Given the description of an element on the screen output the (x, y) to click on. 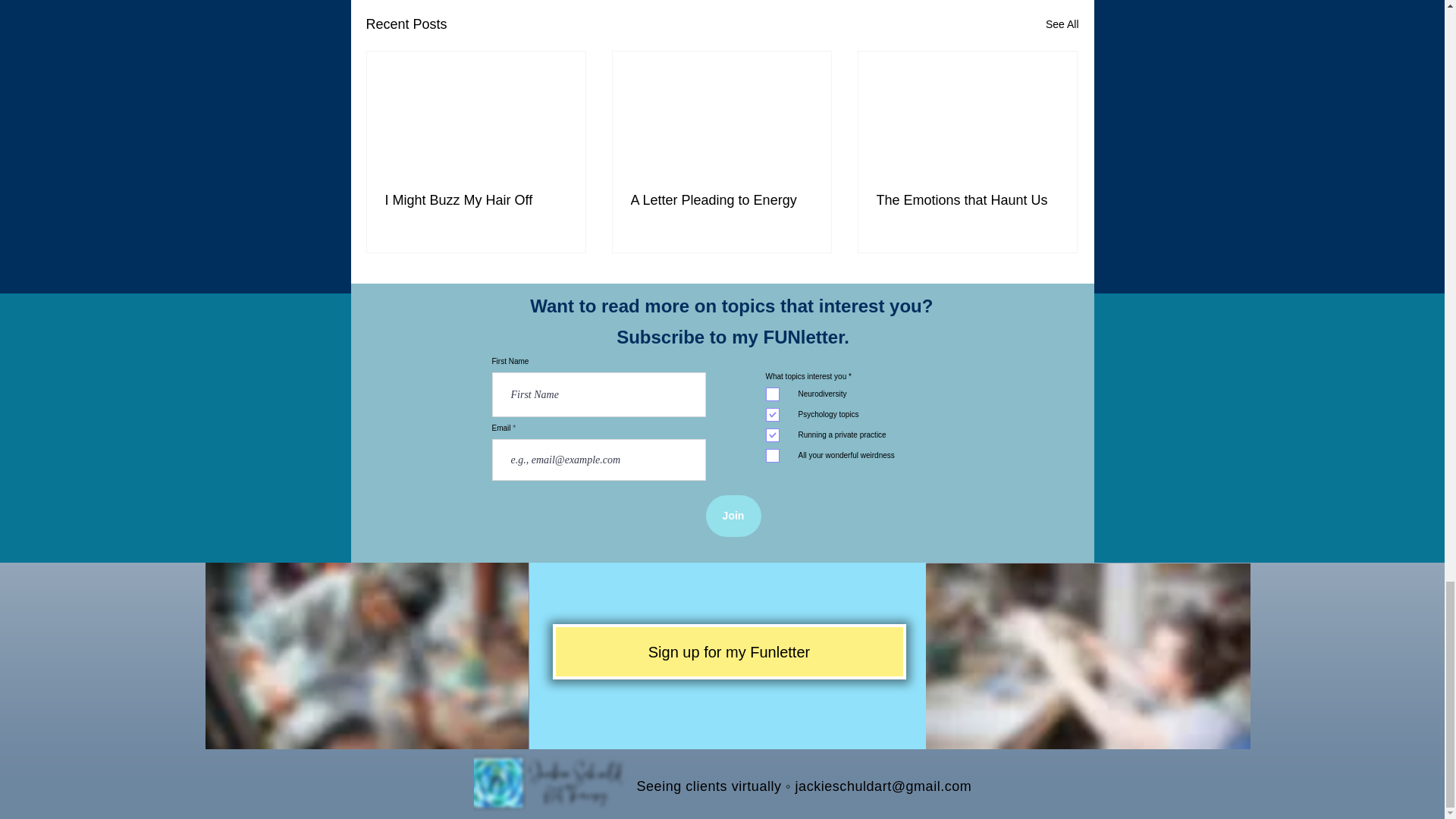
I Might Buzz My Hair Off (476, 200)
A Letter Pleading to Energy (721, 200)
See All (1061, 24)
Join (732, 516)
The Emotions that Haunt Us (967, 200)
Sign up for my Funletter (728, 651)
